Given the description of an element on the screen output the (x, y) to click on. 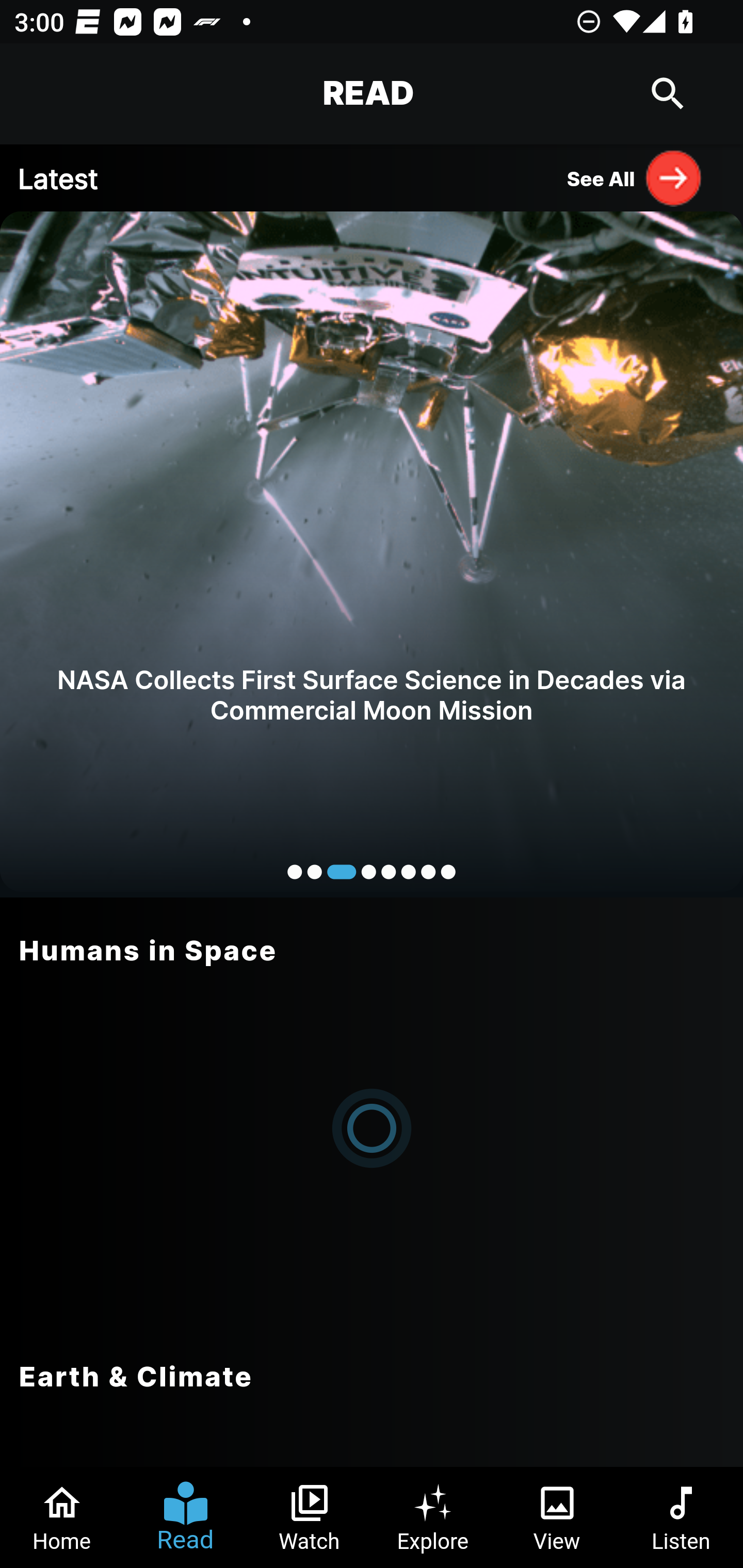
See All (634, 177)
Home
Tab 1 of 6 (62, 1517)
Read
Tab 2 of 6 (185, 1517)
Watch
Tab 3 of 6 (309, 1517)
Explore
Tab 4 of 6 (433, 1517)
View
Tab 5 of 6 (556, 1517)
Listen
Tab 6 of 6 (680, 1517)
